Given the description of an element on the screen output the (x, y) to click on. 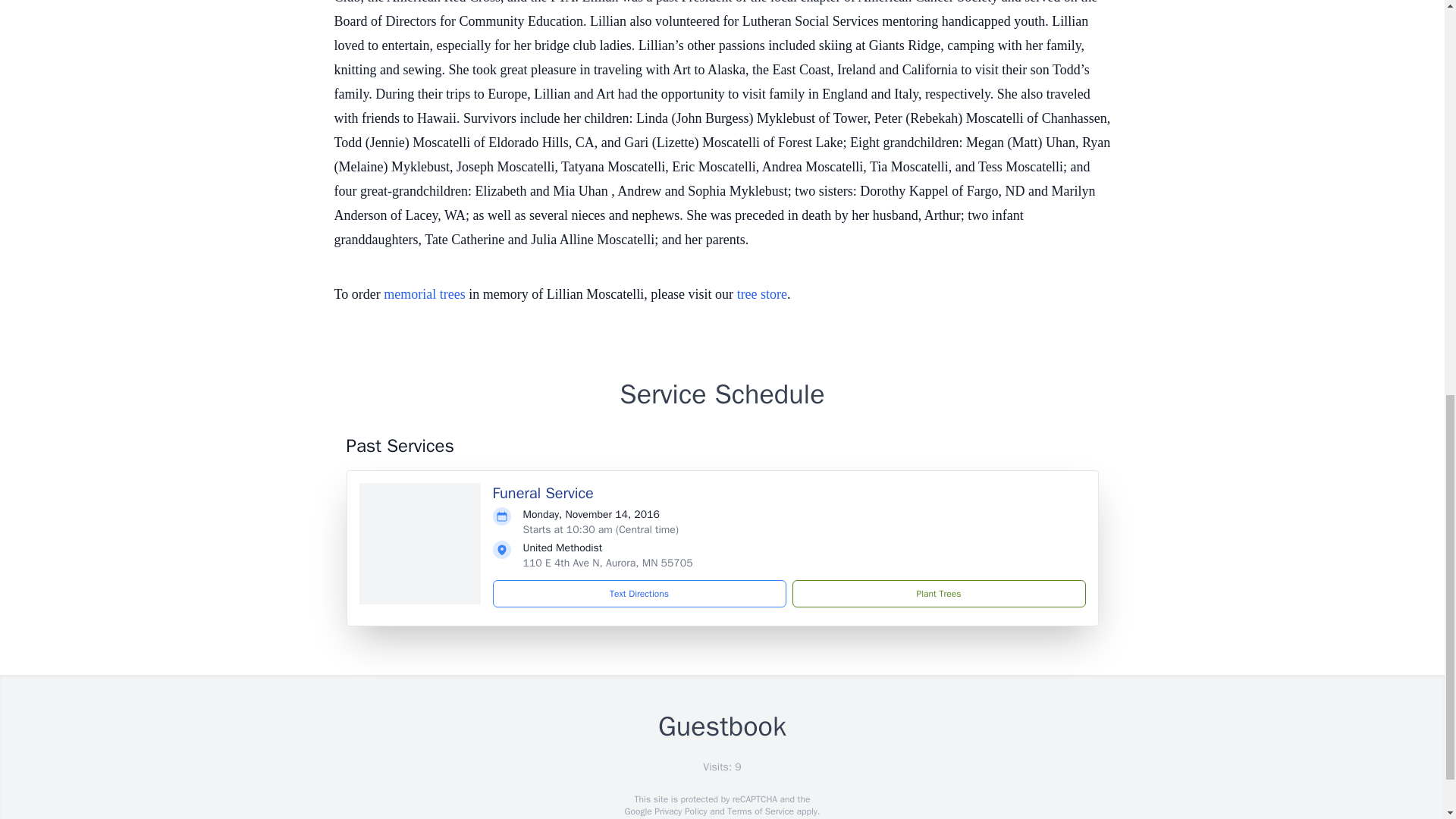
memorial trees (424, 294)
110 E 4th Ave N, Aurora, MN 55705 (607, 562)
Text Directions (639, 593)
tree store (761, 294)
Plant Trees (938, 593)
Privacy Policy (679, 811)
Terms of Service (759, 811)
